Given the description of an element on the screen output the (x, y) to click on. 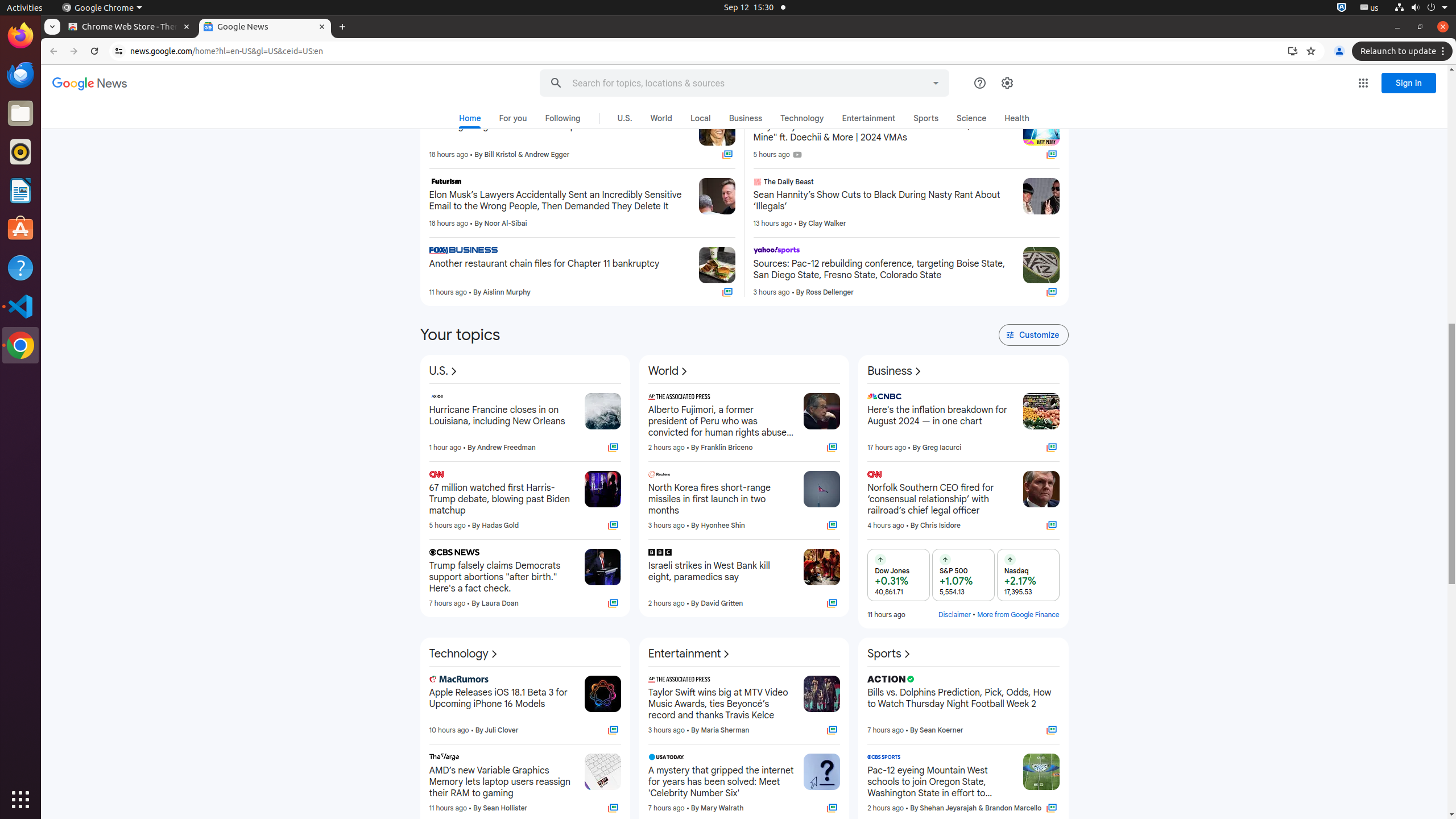
View site information Element type: push-button (118, 51)
A mystery that gripped the internet for years has been solved: Meet 'Celebrity Number Six' Element type: link (721, 781)
Rhythmbox Element type: push-button (20, 151)
Relaunch to update Element type: push-button (1403, 50)
Israeli strikes in West Bank kill eight, paramedics say Element type: link (721, 577)
